Given the description of an element on the screen output the (x, y) to click on. 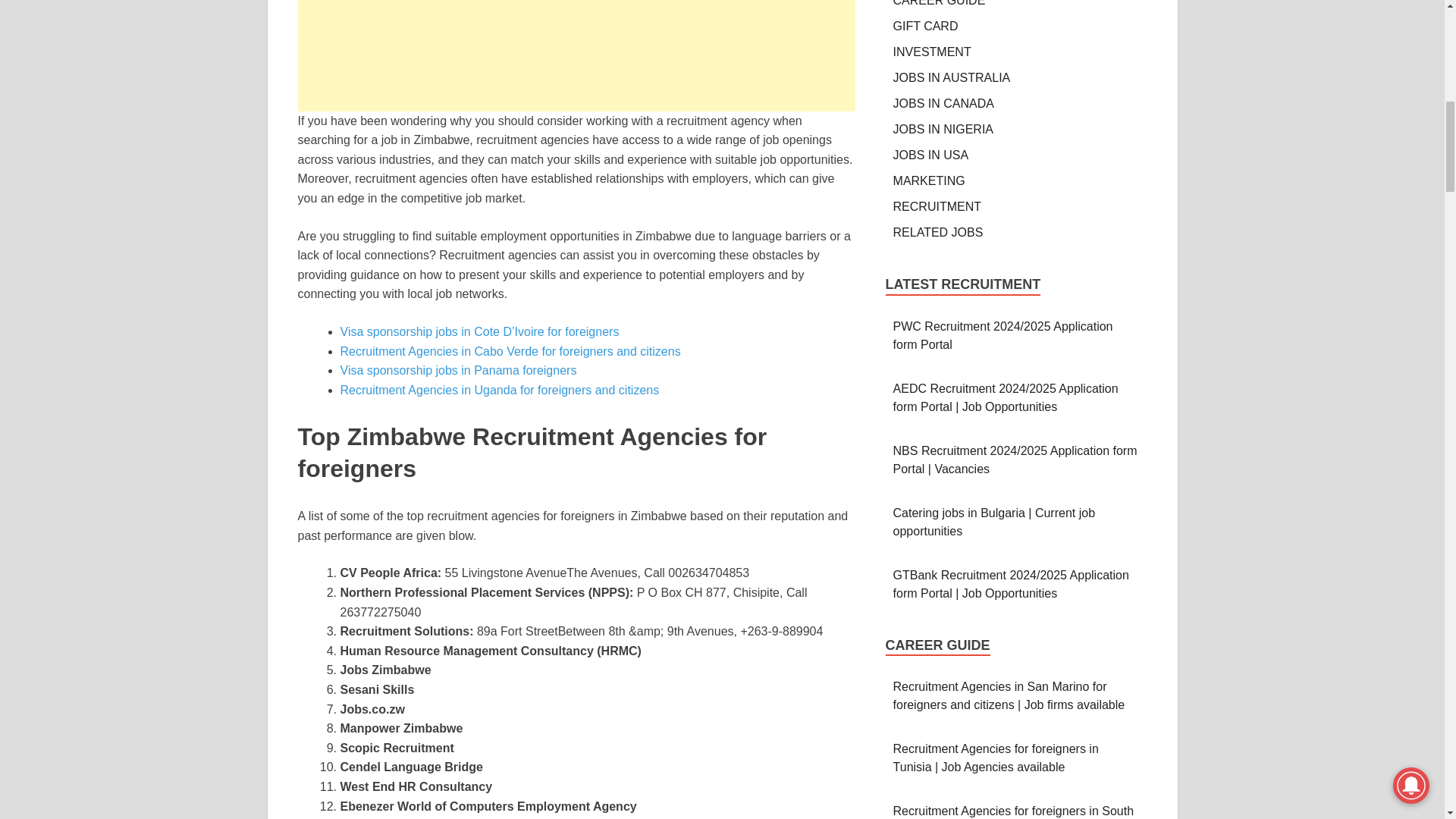
Visa sponsorship jobs in Panama foreigners  (459, 369)
Recruitment Agencies in Uganda for foreigners and citizens (499, 390)
Advertisement (575, 55)
